Given the description of an element on the screen output the (x, y) to click on. 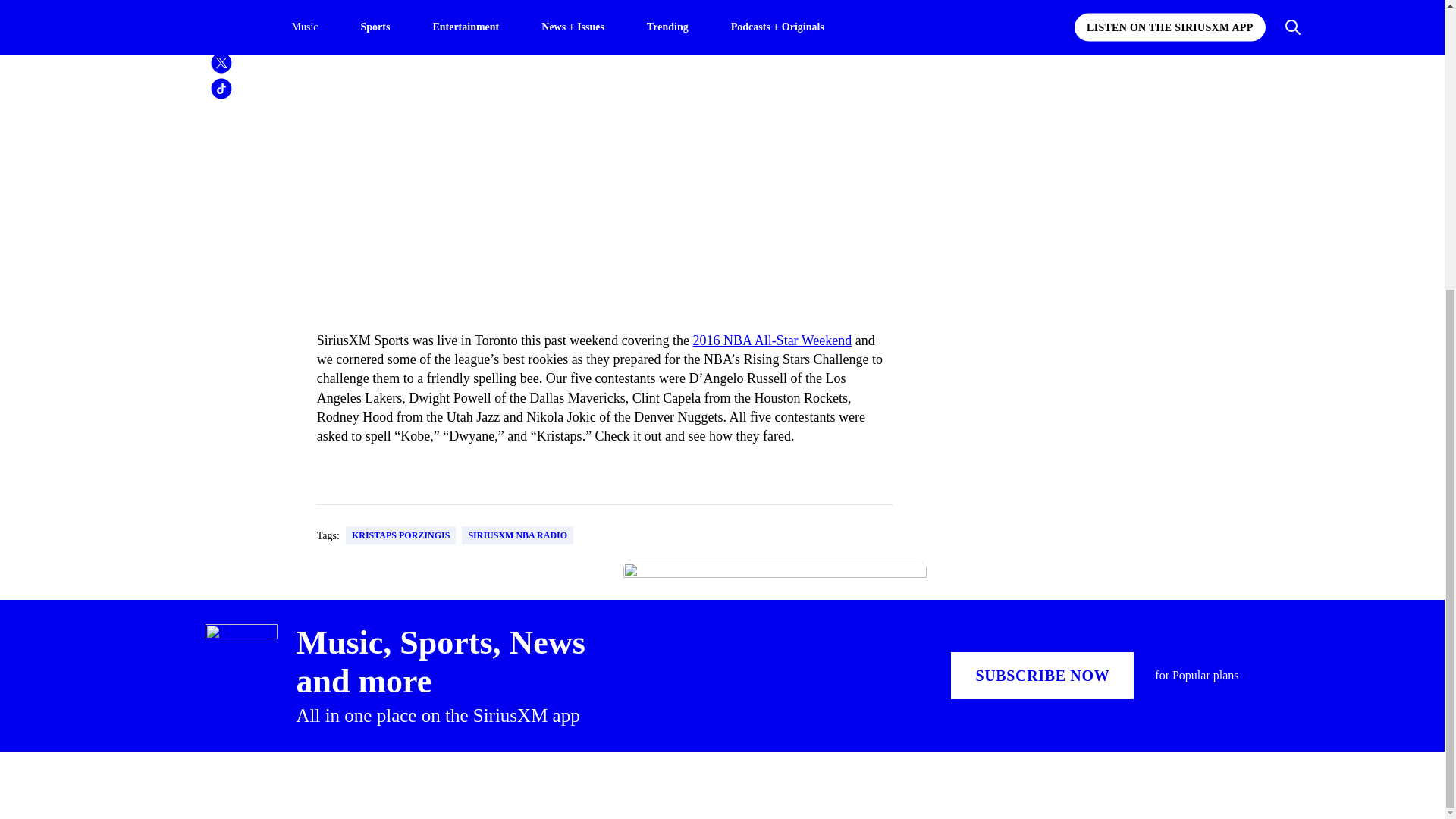
SIRIUSXM NBA RADIO (517, 535)
KRISTAPS PORZINGIS (400, 535)
2016 NBA All-Star Weekend (772, 340)
